Given the description of an element on the screen output the (x, y) to click on. 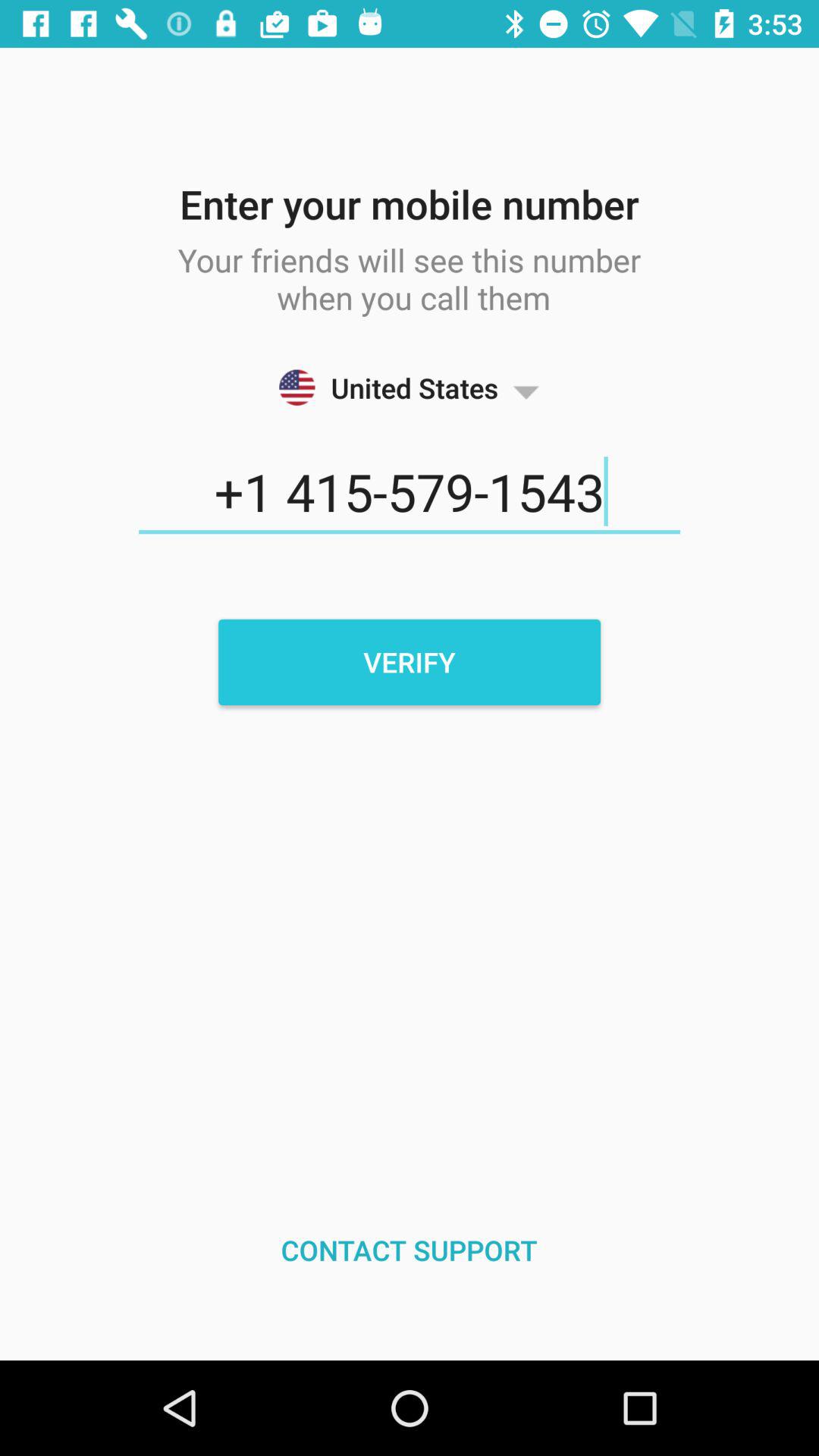
launch the icon above the verify icon (409, 491)
